Given the description of an element on the screen output the (x, y) to click on. 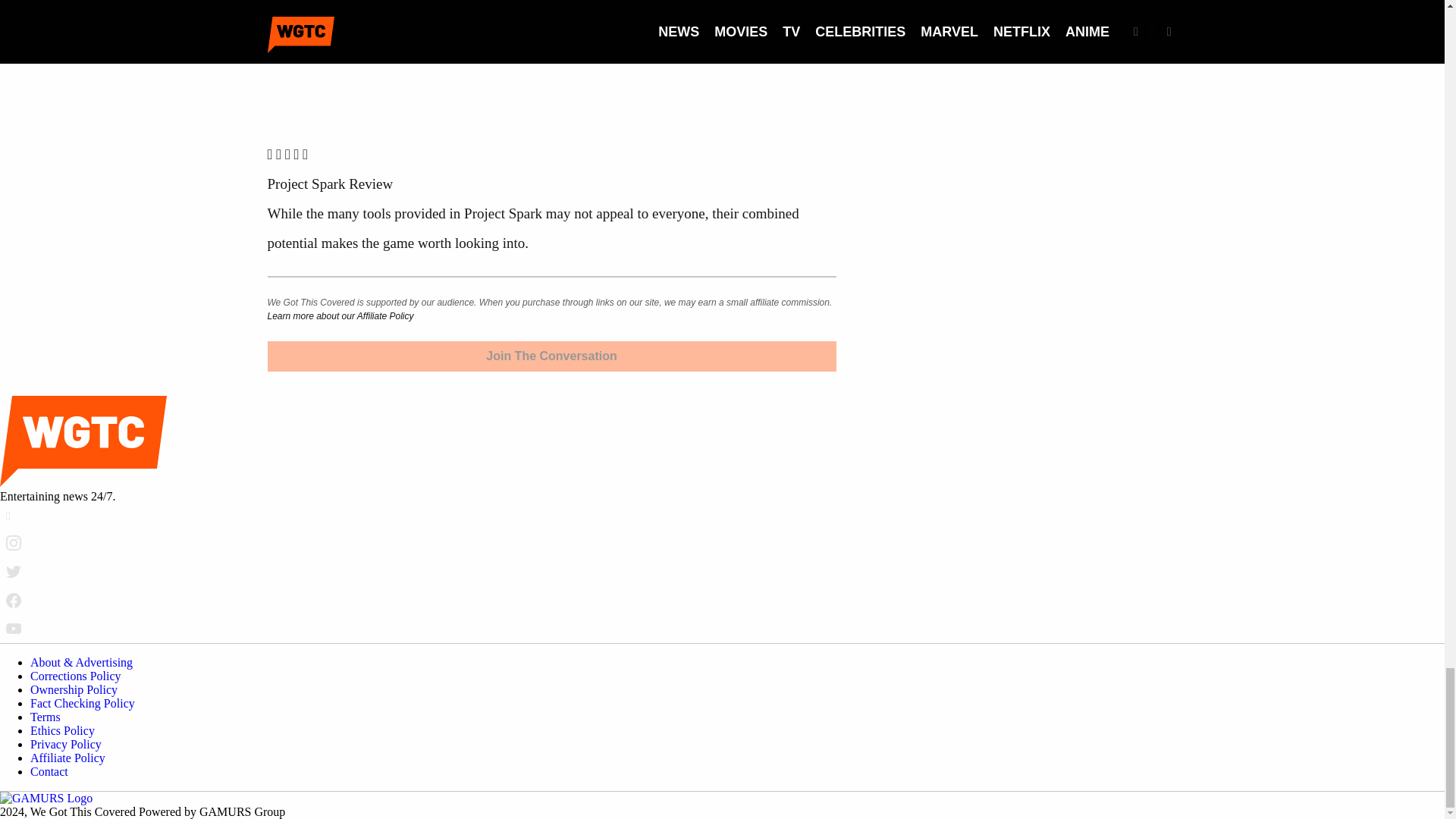
Join The Conversation (550, 356)
